Given the description of an element on the screen output the (x, y) to click on. 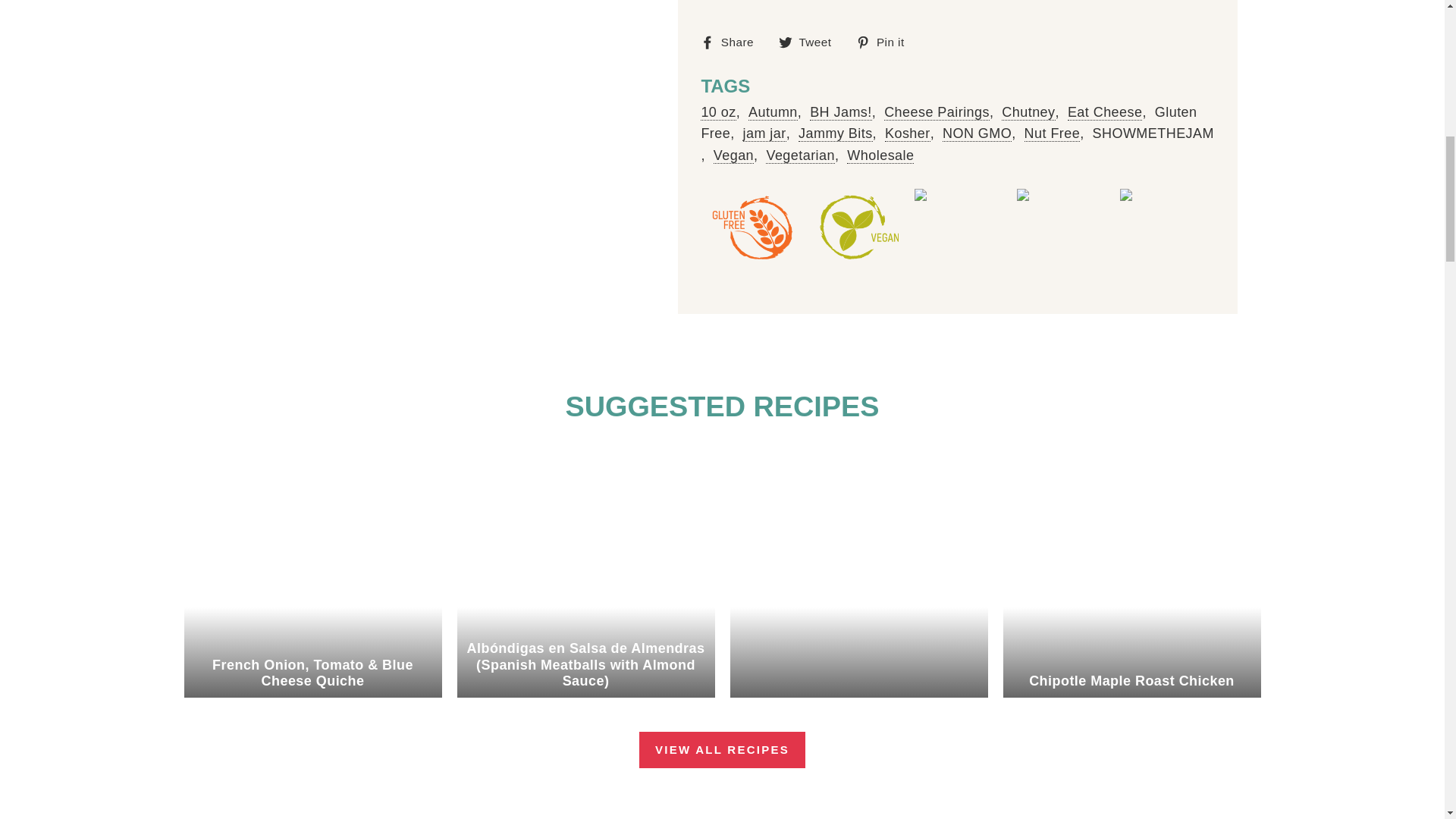
Pin on Pinterest (885, 42)
Tweet on Twitter (810, 42)
Share on Facebook (732, 42)
